Given the description of an element on the screen output the (x, y) to click on. 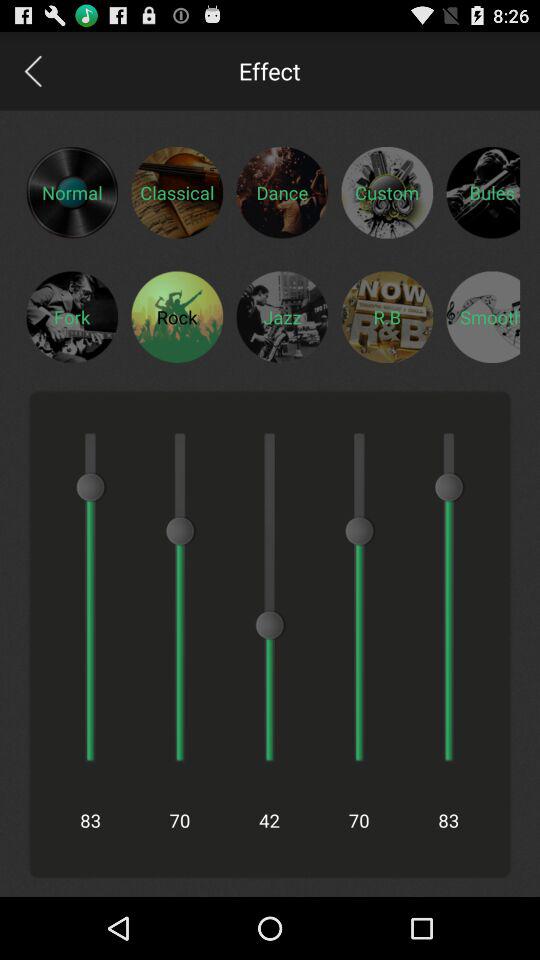
add effect (177, 316)
